Given the description of an element on the screen output the (x, y) to click on. 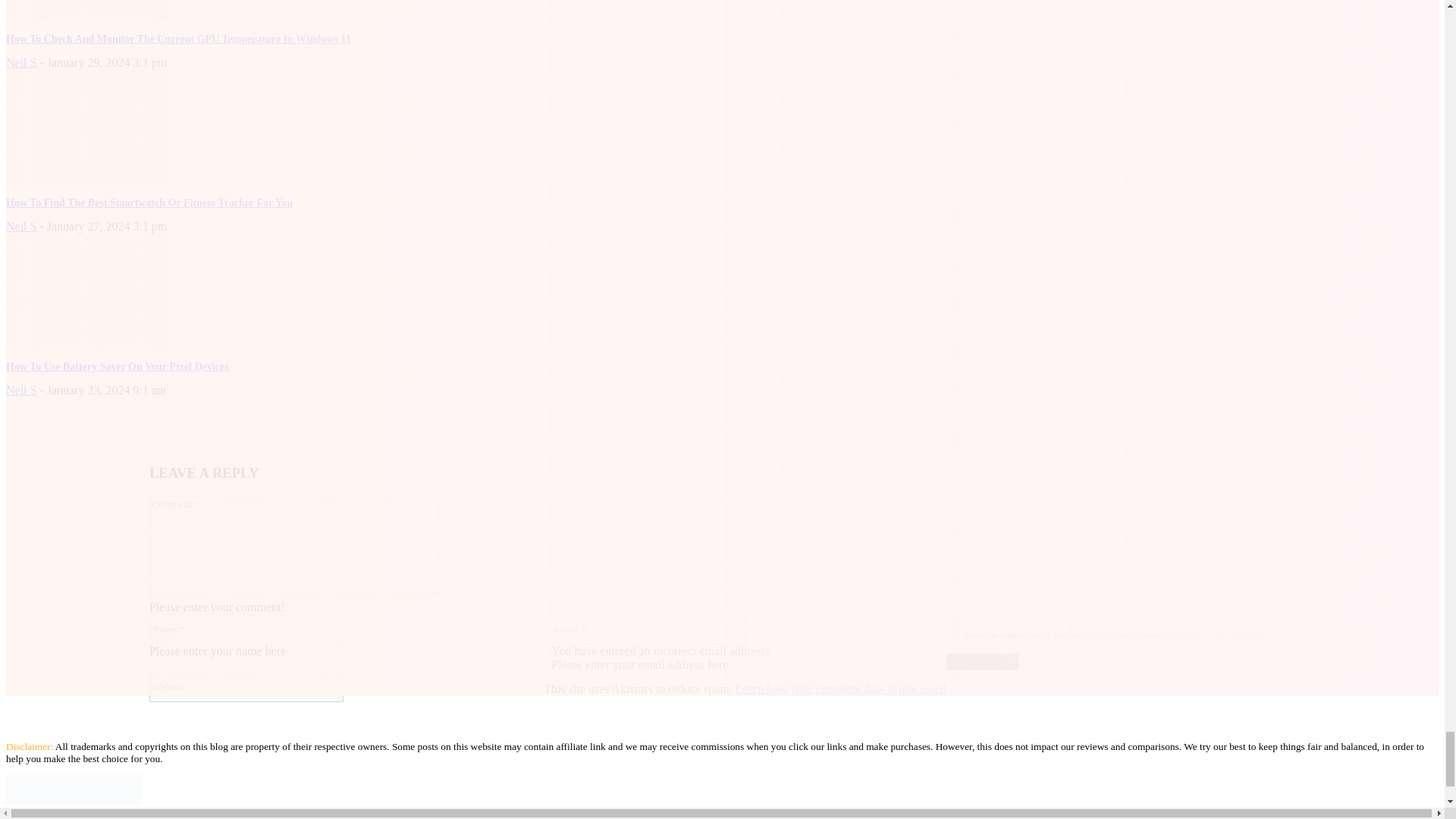
yes (954, 633)
Post Comment (981, 661)
